Given the description of an element on the screen output the (x, y) to click on. 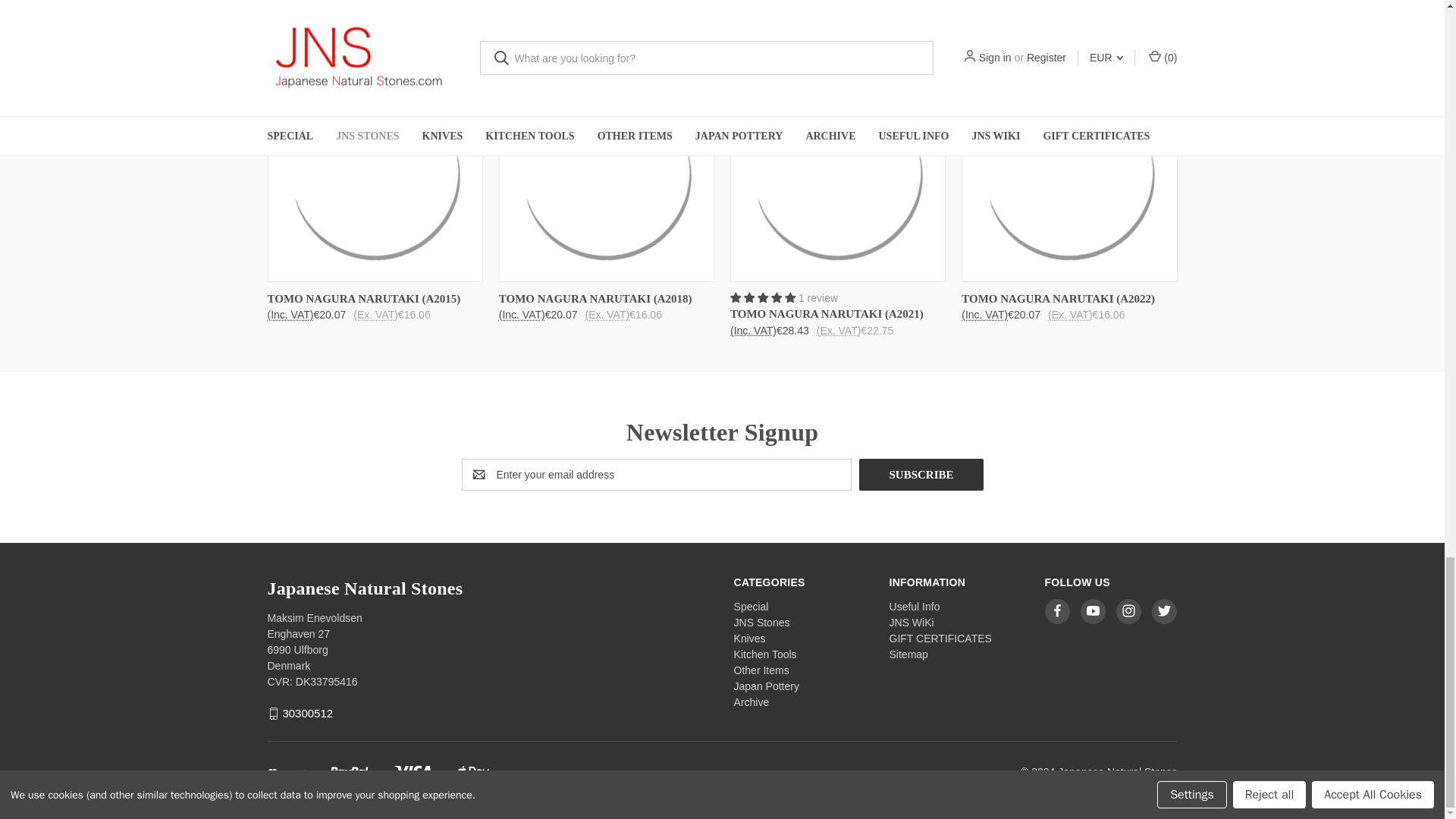
Subscribe (920, 474)
